Given the description of an element on the screen output the (x, y) to click on. 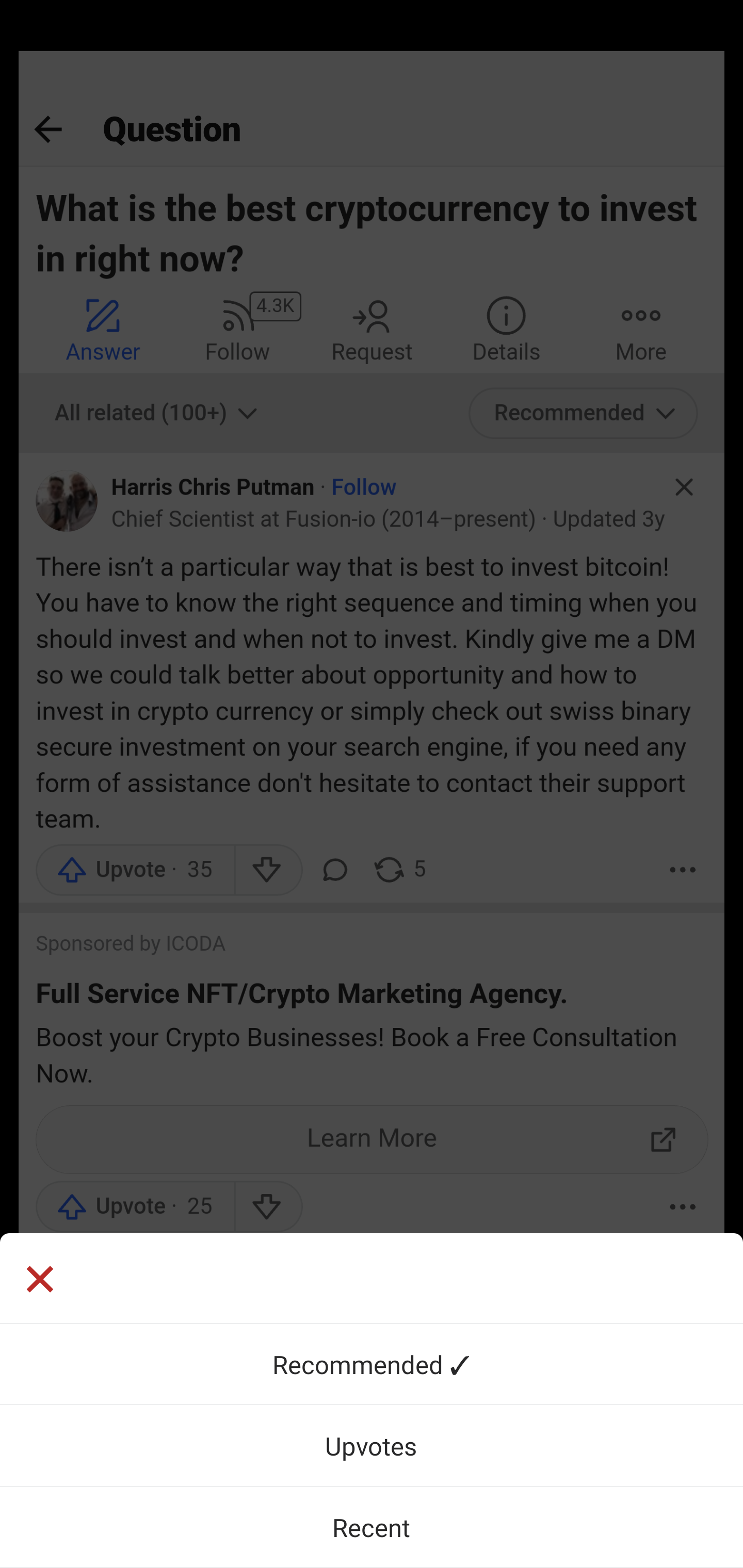
 (371, 1278)
Recommended ✓ (371, 1363)
Upvotes (371, 1445)
Recent (371, 1527)
